Given the description of an element on the screen output the (x, y) to click on. 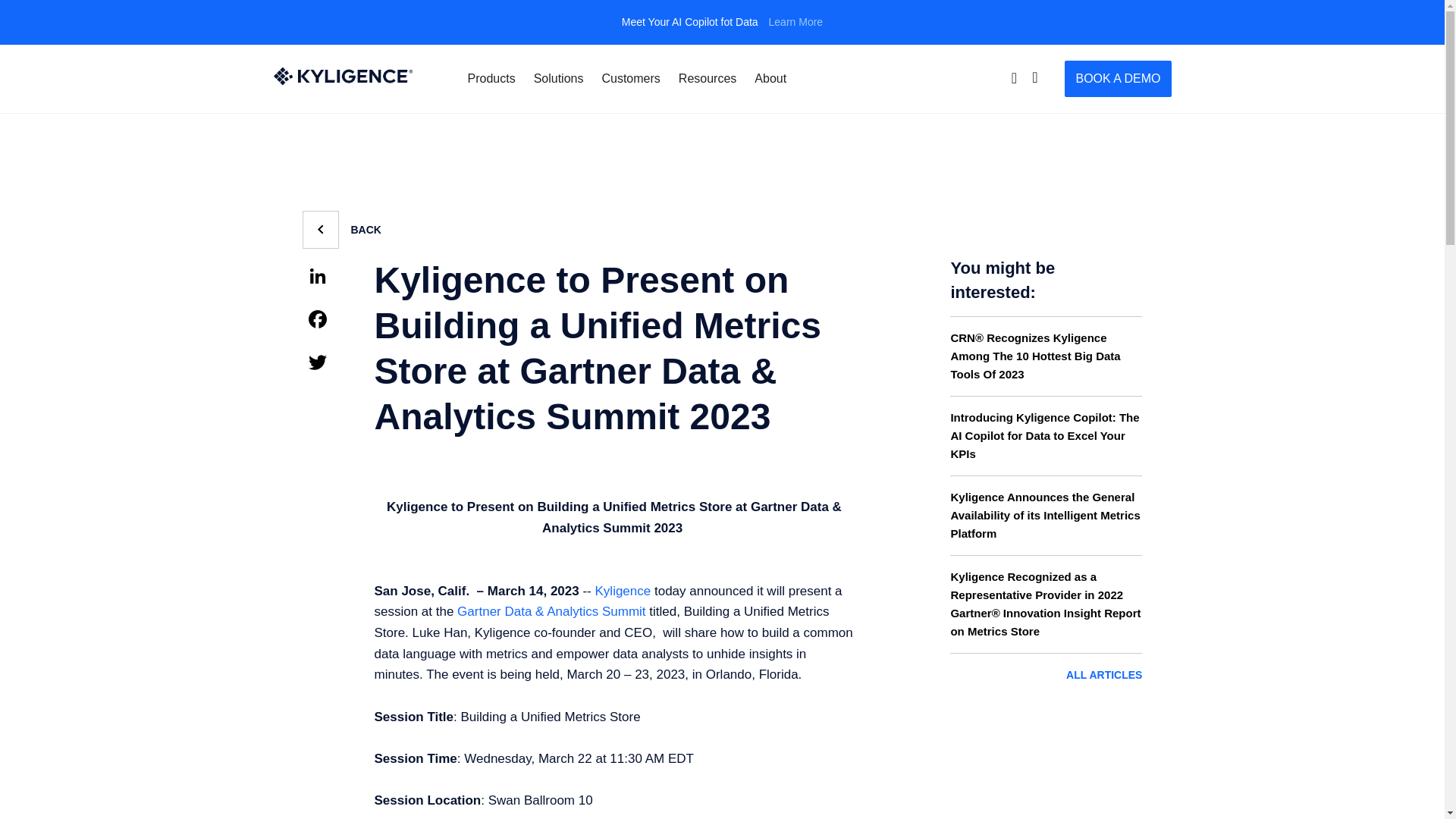
LinkedIn (325, 277)
Twitter (325, 364)
Facebook (325, 320)
Learn More (796, 21)
